Given the description of an element on the screen output the (x, y) to click on. 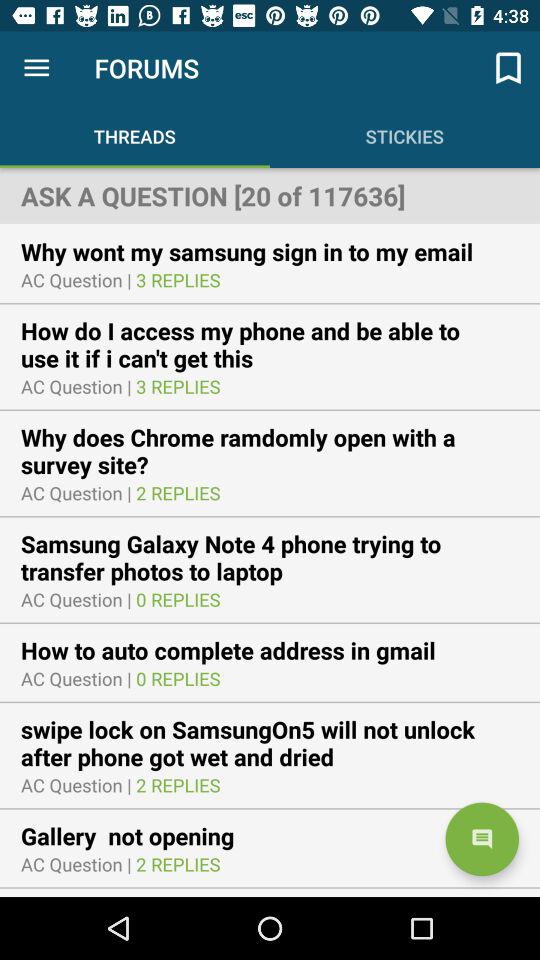
open icon below the ac question | (140, 835)
